Given the description of an element on the screen output the (x, y) to click on. 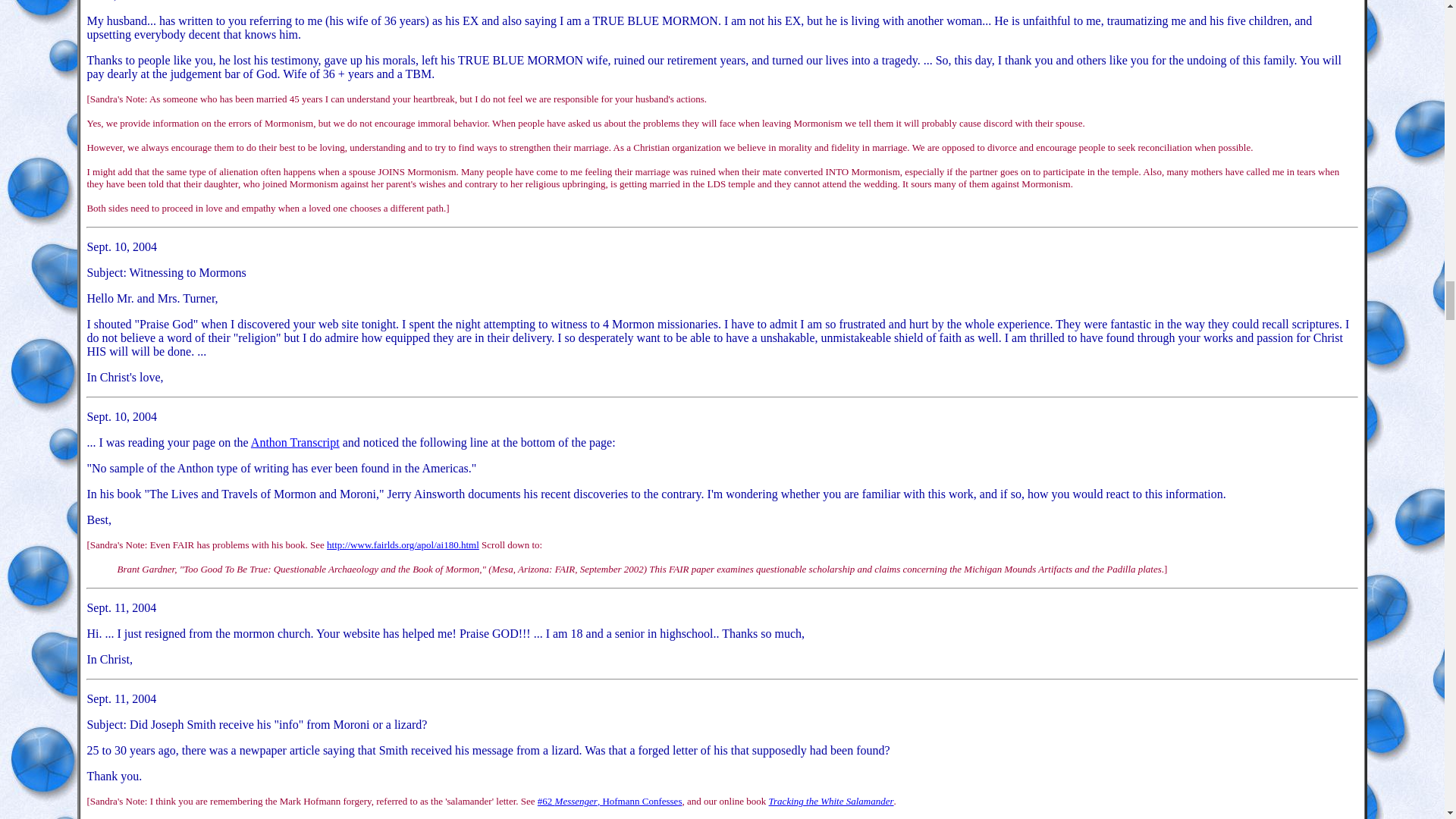
Anthon Transcript (294, 441)
Tracking the White Salamander (830, 800)
